Given the description of an element on the screen output the (x, y) to click on. 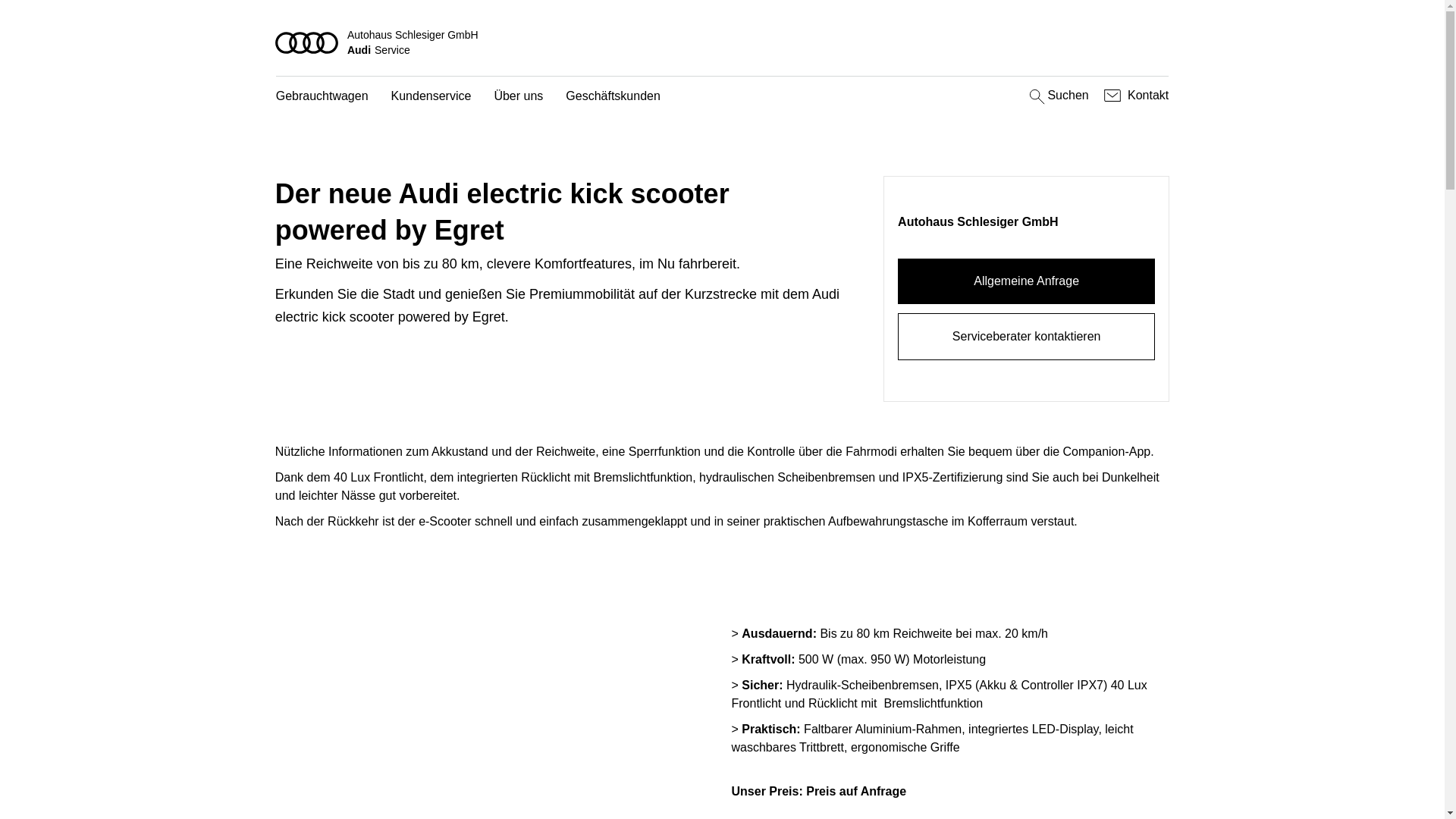
Gebrauchtwagen Element type: text (322, 96)
Serviceberater kontaktieren Element type: text (1025, 336)
Kundenservice Element type: text (431, 96)
Autohaus Schlesiger GmbH
AudiService Element type: text (722, 42)
Preis auf Anfrage Element type: text (856, 791)
Suchen Element type: text (1056, 95)
Kontakt Element type: text (1134, 95)
Allgemeine Anfrage Element type: text (1025, 281)
